Given the description of an element on the screen output the (x, y) to click on. 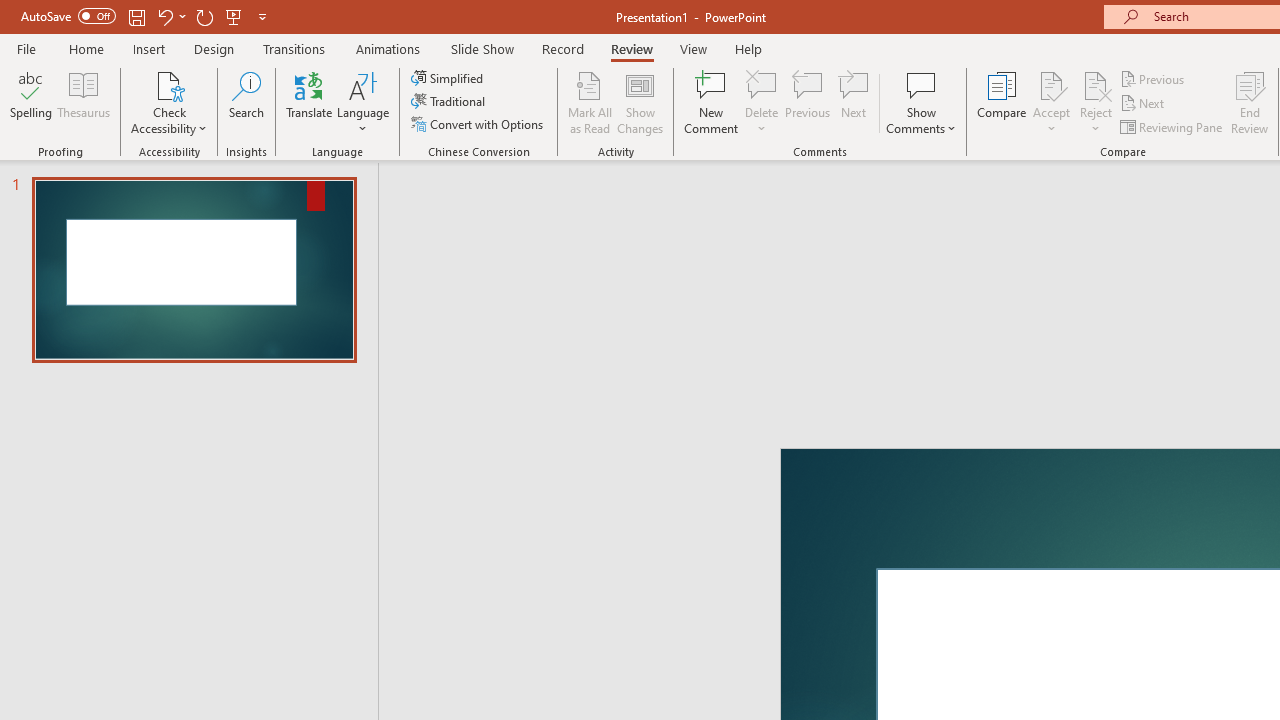
Show Comments (921, 84)
